Given the description of an element on the screen output the (x, y) to click on. 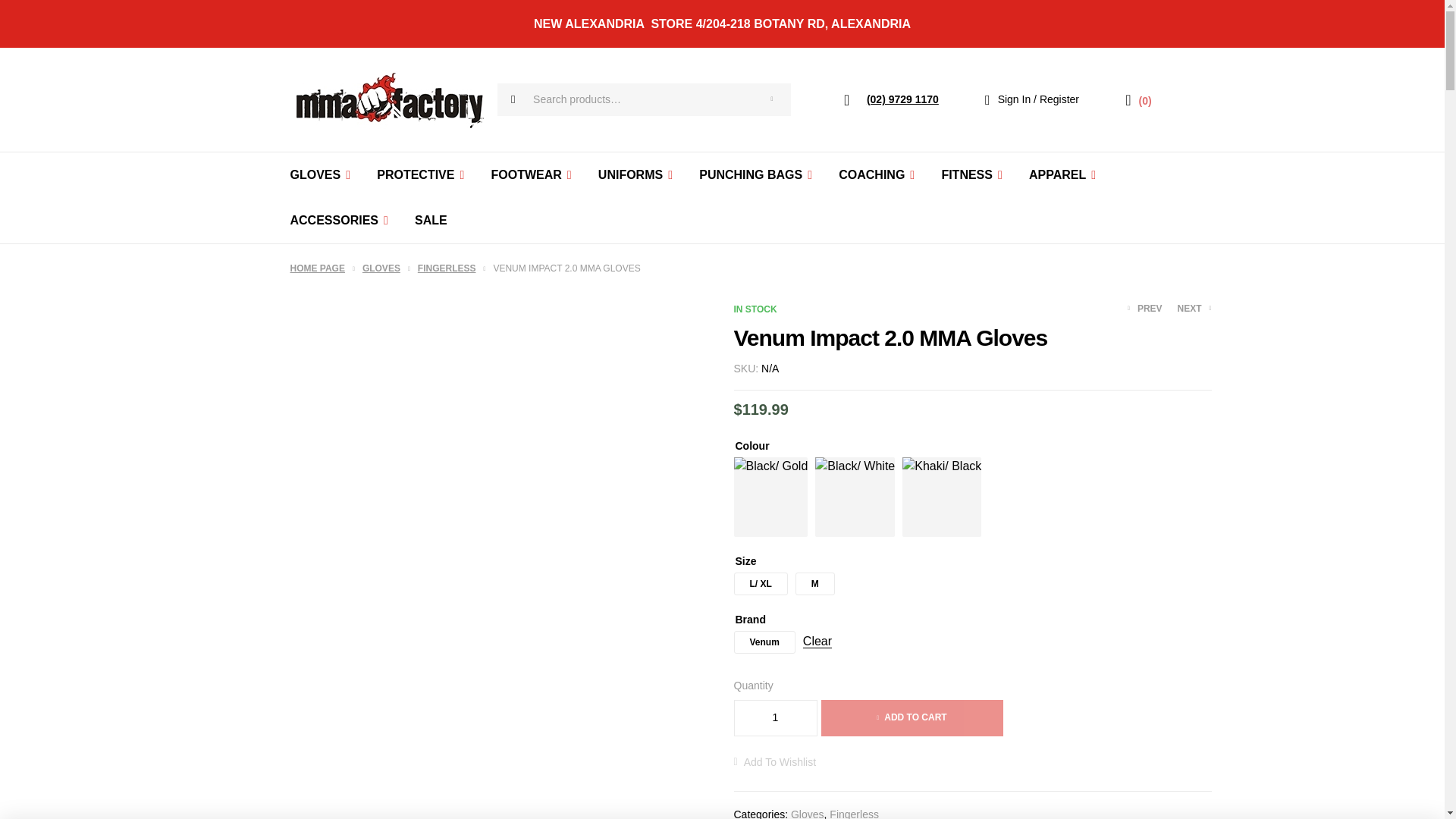
SEARCH (771, 100)
View your shopping cart (1138, 99)
1 (774, 717)
